Given the description of an element on the screen output the (x, y) to click on. 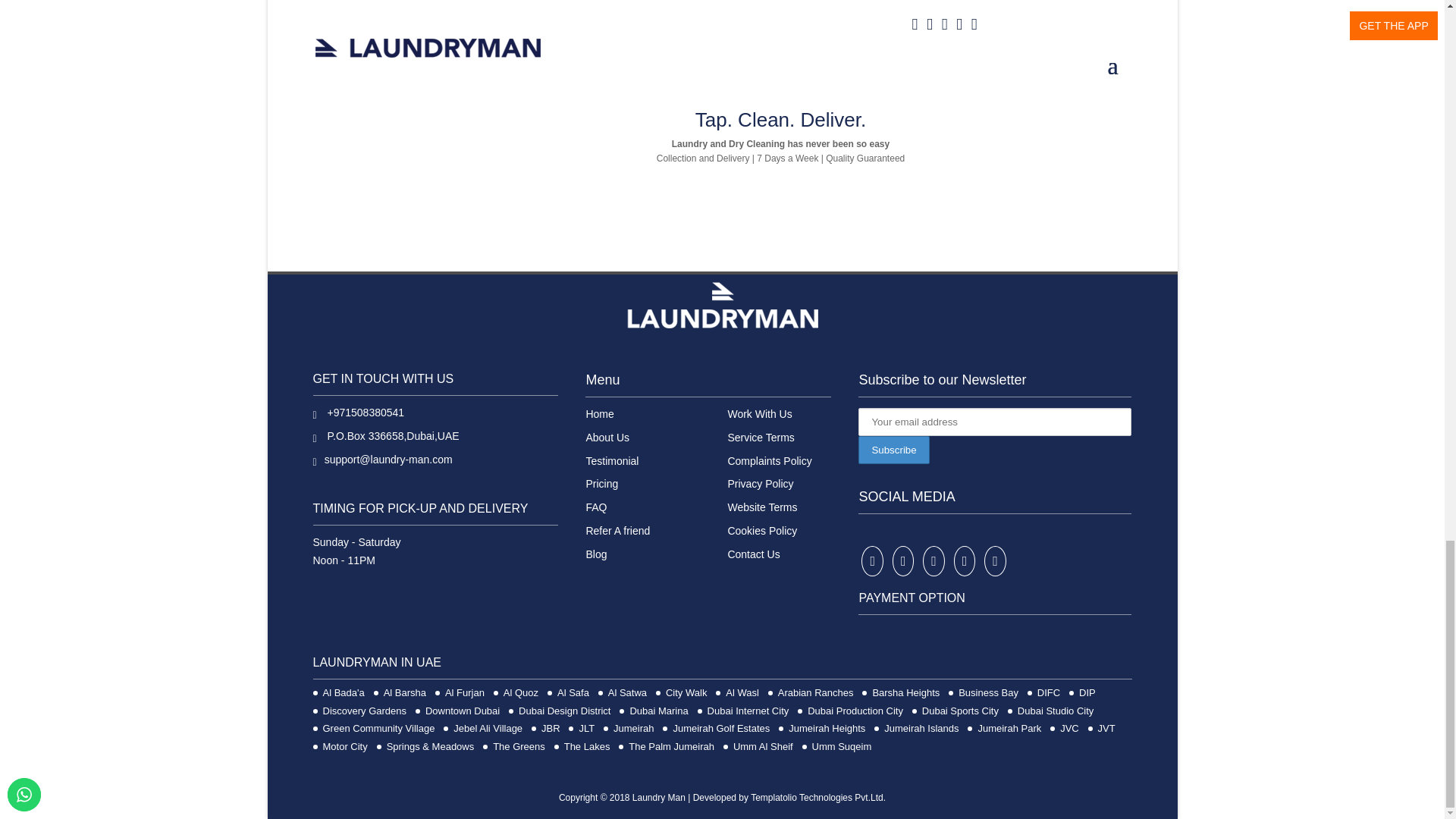
Subscribe (893, 449)
